Given the description of an element on the screen output the (x, y) to click on. 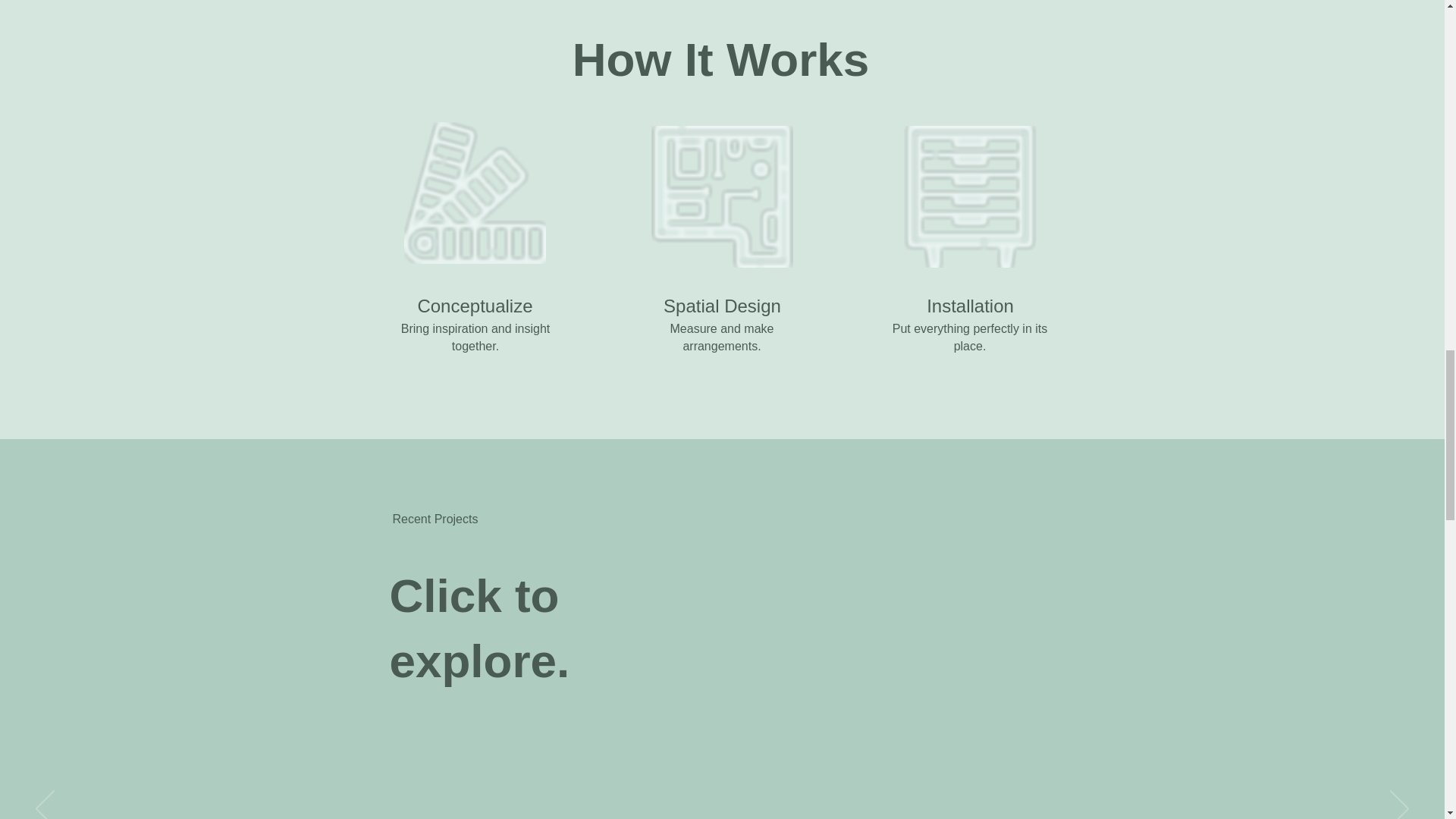
Click to explore. (480, 628)
